Given the description of an element on the screen output the (x, y) to click on. 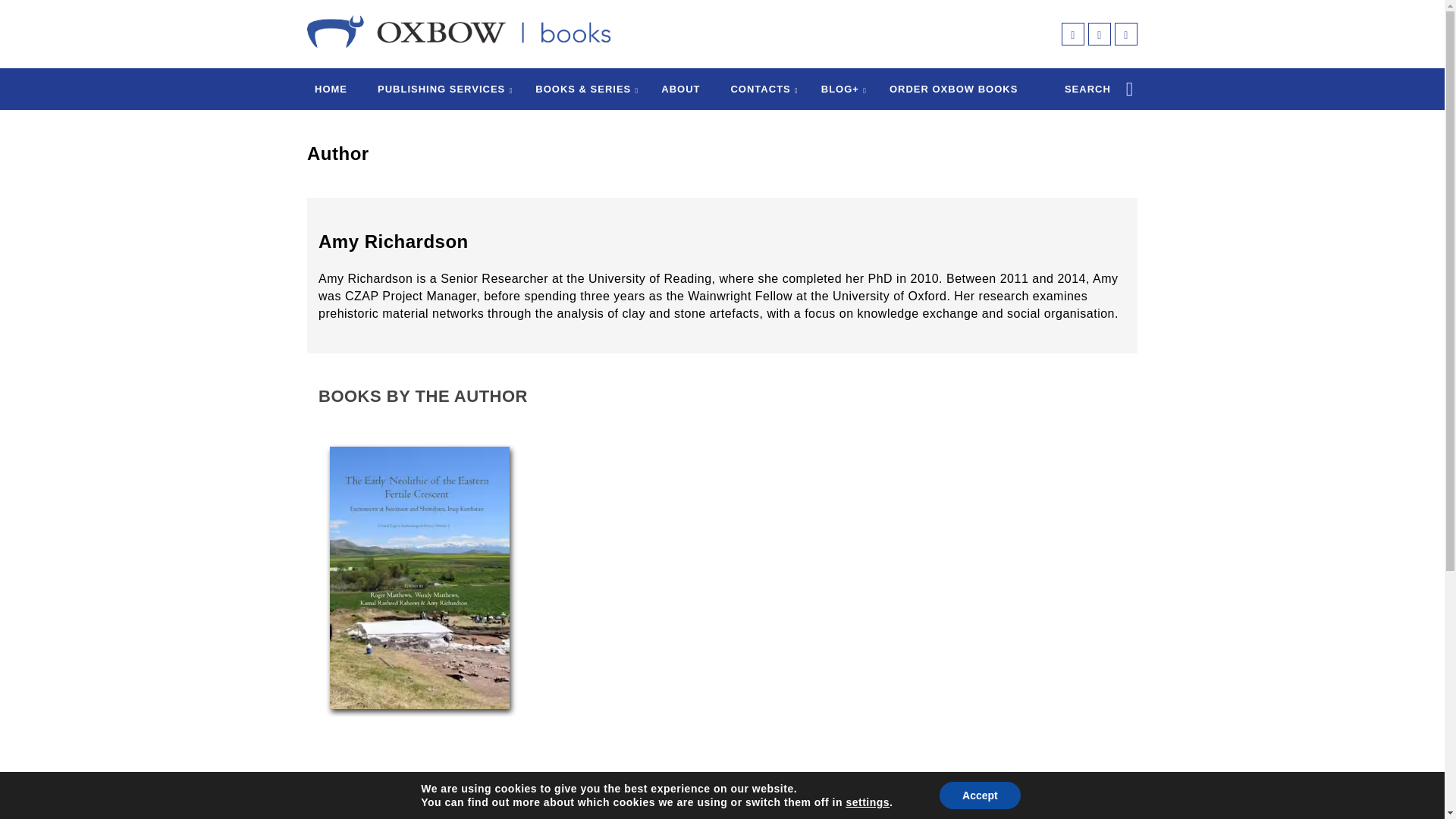
PUBLISHING SERVICES (441, 89)
HOME (330, 89)
ABOUT (680, 89)
Follow us on Facebook (1072, 33)
Follow us on LinkedIn (1126, 33)
Follow us on LinkedIn (1114, 799)
ORDER OXBOW BOOKS (953, 89)
CONTACTS (760, 89)
Follow us on Facebook (1061, 799)
